Given the description of an element on the screen output the (x, y) to click on. 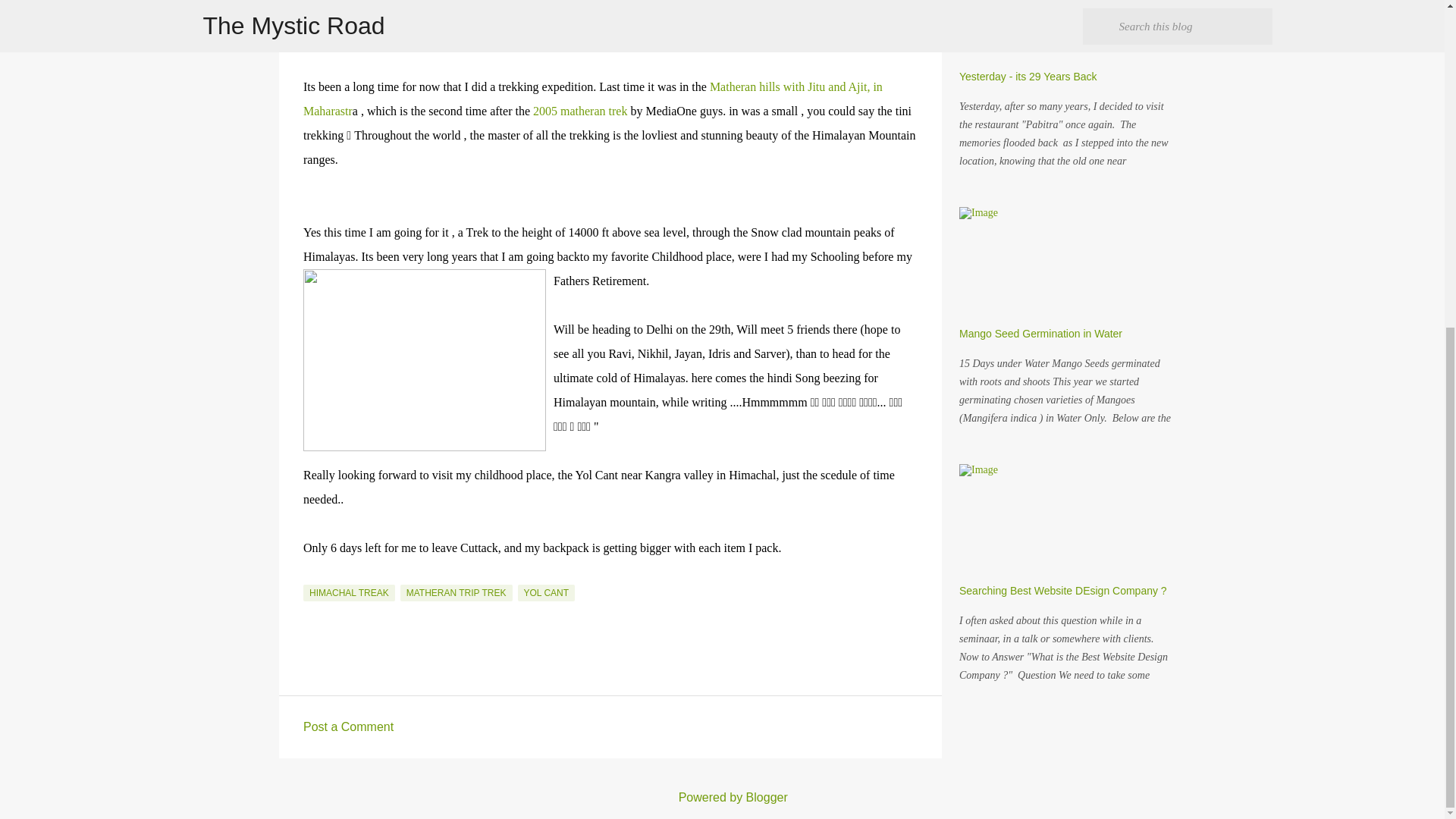
Mango Seed Germination in Water (1040, 333)
HIMACHAL TREAK (348, 592)
Powered by Blogger (721, 797)
Post a Comment (347, 726)
2005 matheran trek (579, 110)
Yesterday - its 29 Years Back (1028, 76)
MATHERAN TRIP TREK (456, 592)
Matheran hills with Jitu and Ajit, in Maharastr (592, 98)
Email Post (311, 575)
YOL CANT (546, 592)
Searching Best Website DEsign Company ? (1063, 590)
